Given the description of an element on the screen output the (x, y) to click on. 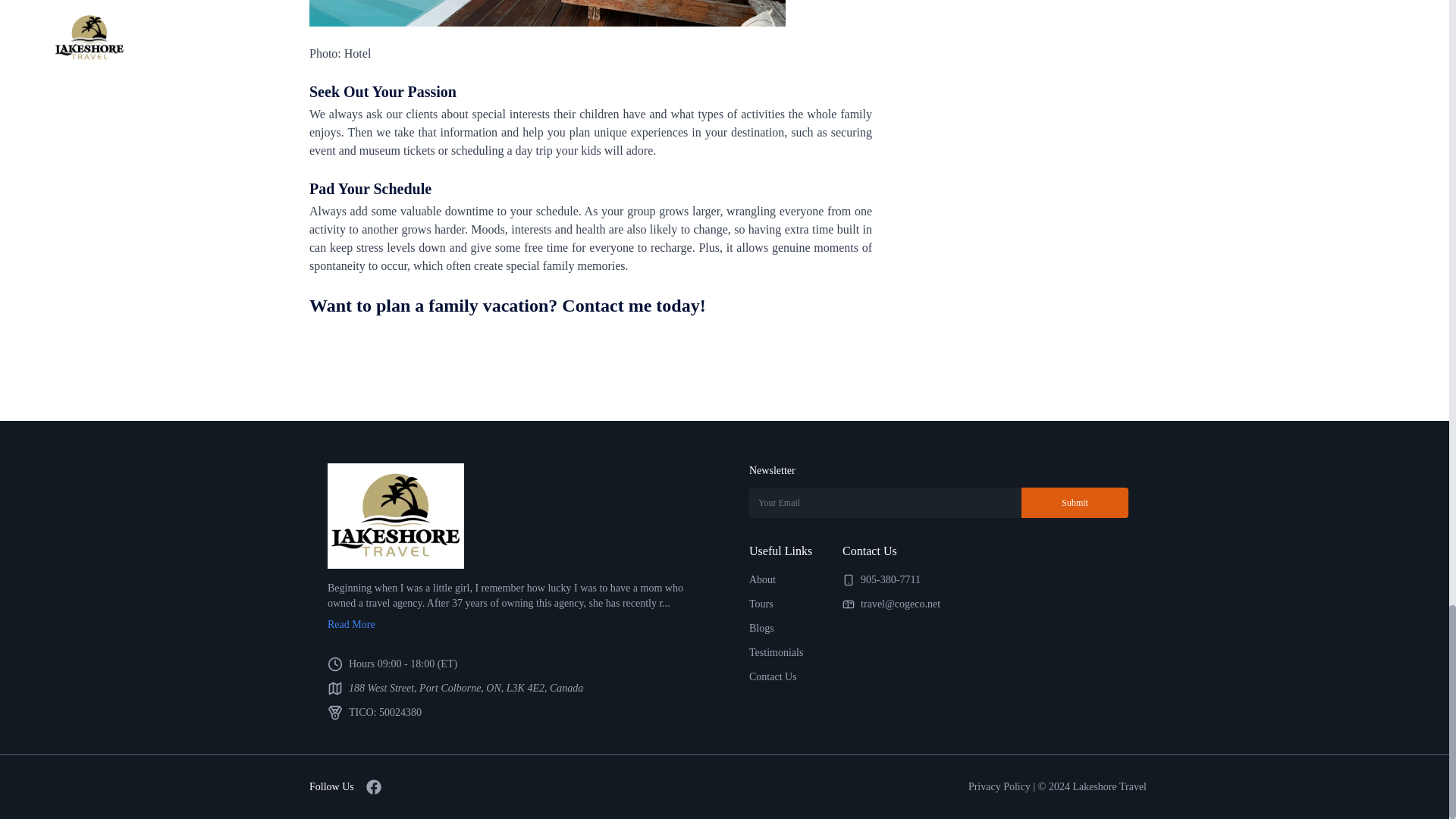
Testimonials (776, 652)
Submit (1075, 502)
Blogs (761, 627)
About (762, 579)
Tours (761, 603)
